Given the description of an element on the screen output the (x, y) to click on. 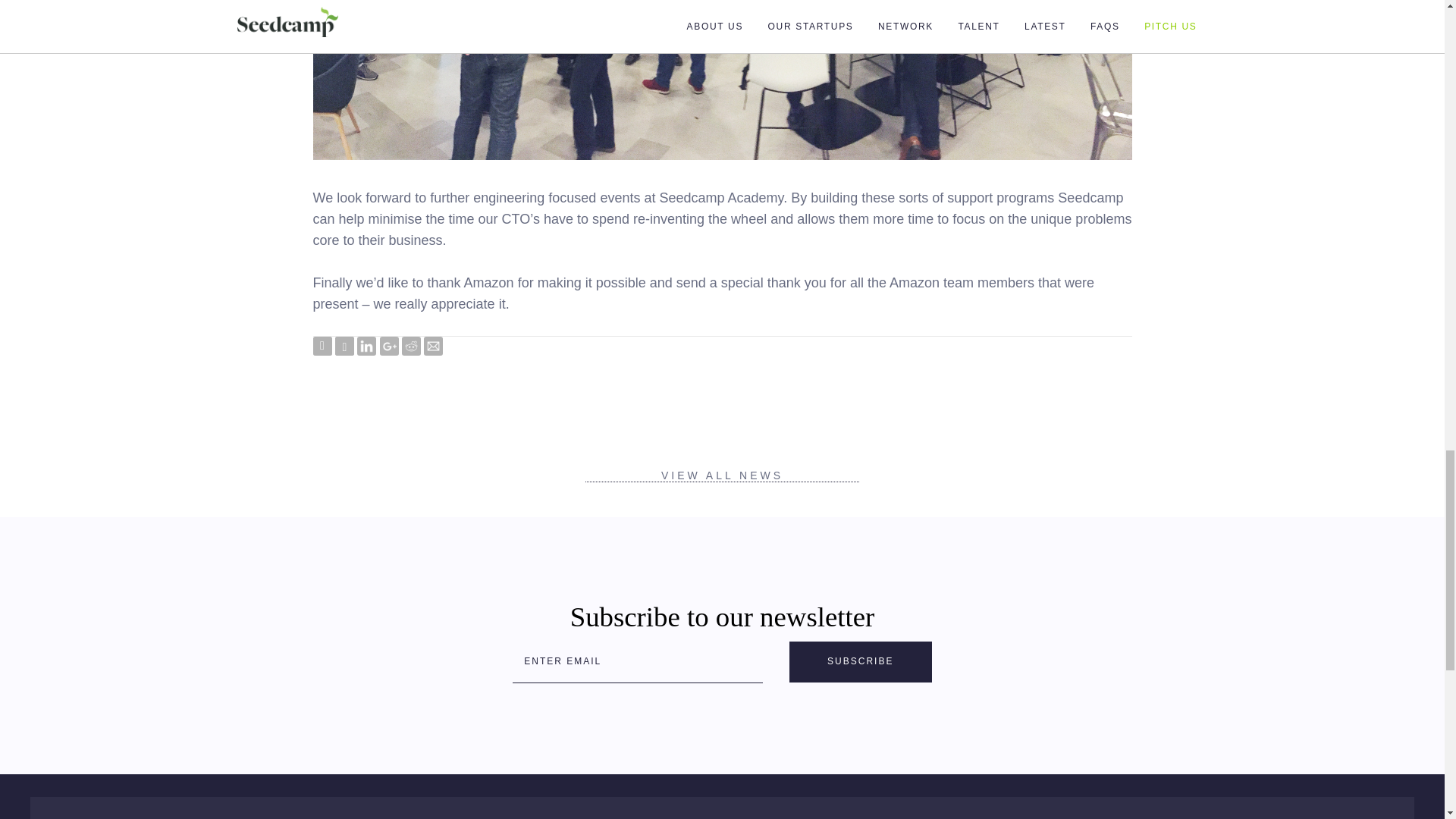
VIEW ALL NEWS (722, 474)
Email (432, 345)
SUBSCRIBE (860, 661)
LinkedIn (365, 345)
Facebook (343, 345)
Reddit (410, 345)
Twitter (322, 345)
